Given the description of an element on the screen output the (x, y) to click on. 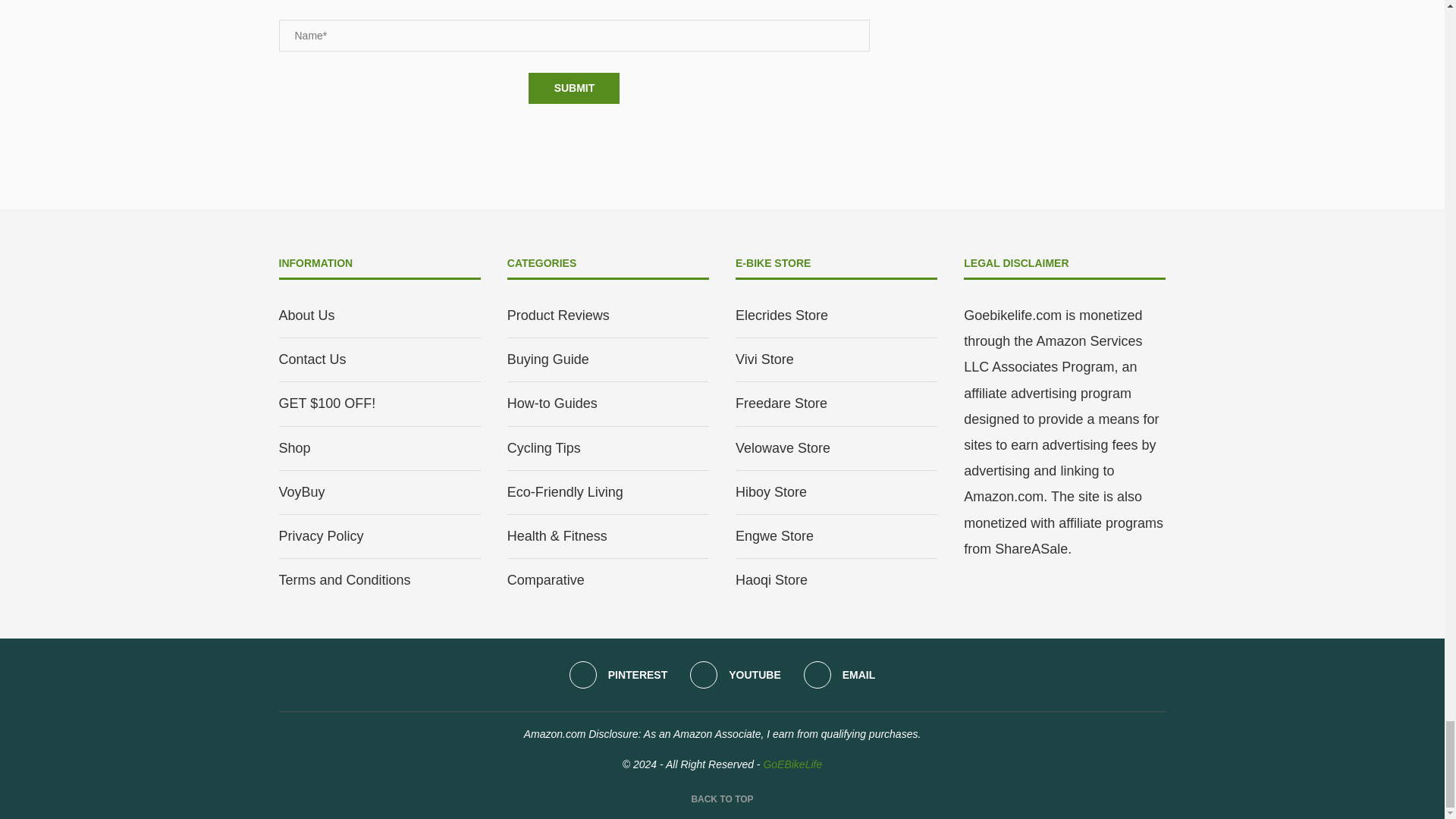
Submit (574, 88)
